Given the description of an element on the screen output the (x, y) to click on. 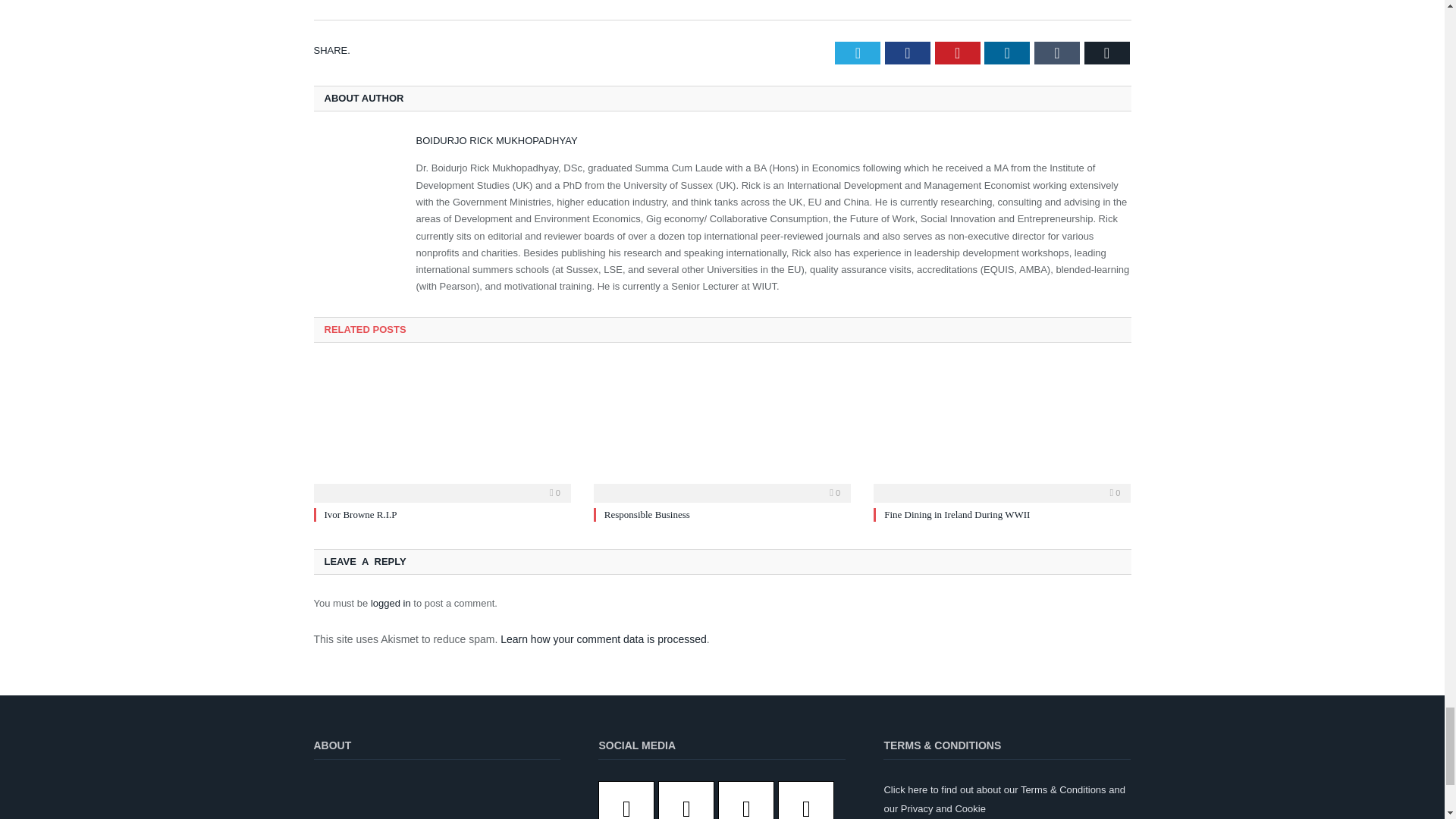
Ivor Browne R.I.P (442, 431)
Responsible Business (722, 431)
Ivor Browne R.I.P (360, 514)
Share on LinkedIn (1006, 52)
Share on Pinterest (956, 52)
Share via Email (1106, 52)
Share on Tumblr (1056, 52)
Posts by Boidurjo Rick Mukhopadhyay (495, 140)
Share on Facebook (907, 52)
Tweet It (857, 52)
